Given the description of an element on the screen output the (x, y) to click on. 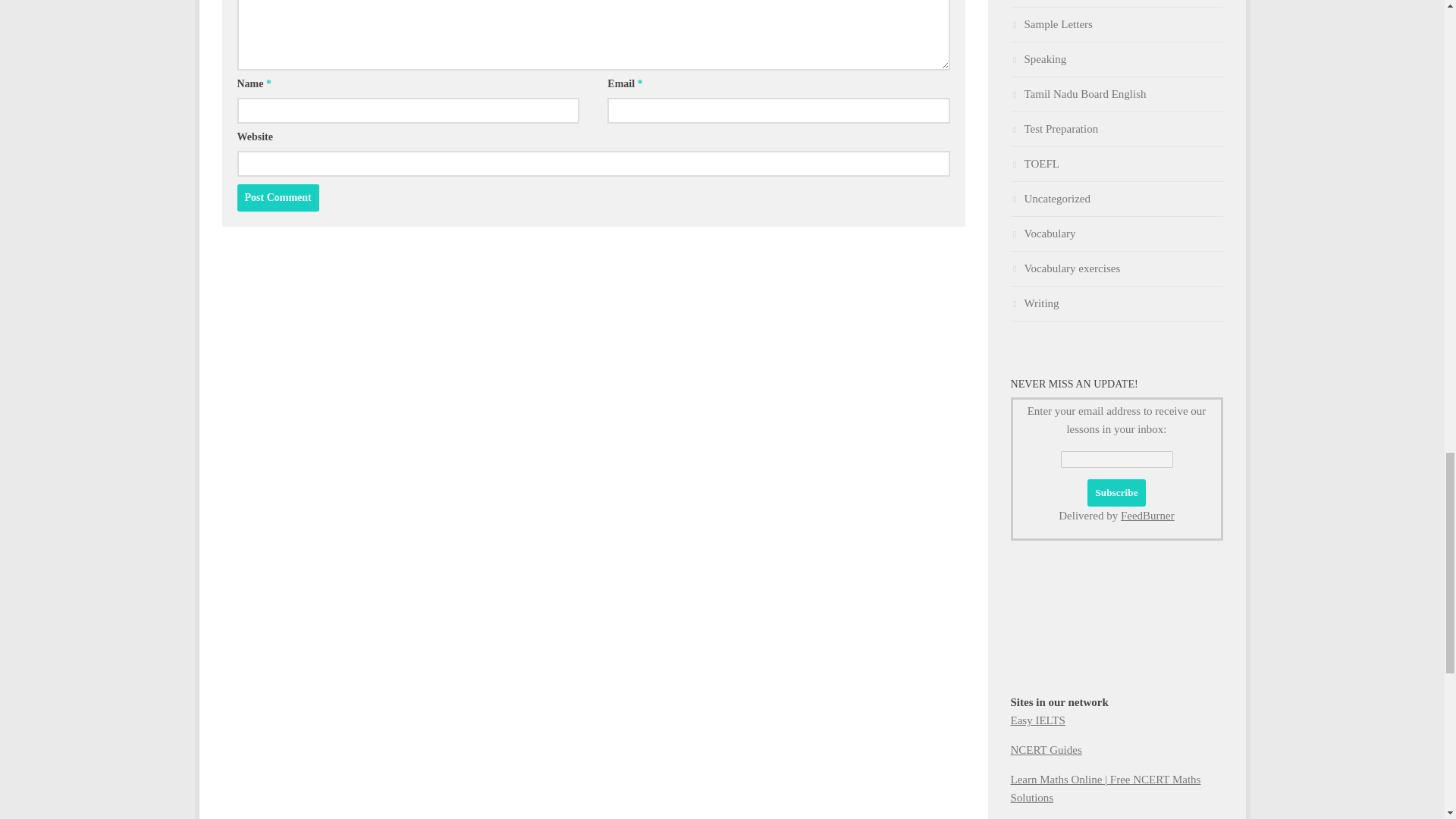
Post Comment (276, 197)
Subscribe (1115, 492)
